Given the description of an element on the screen output the (x, y) to click on. 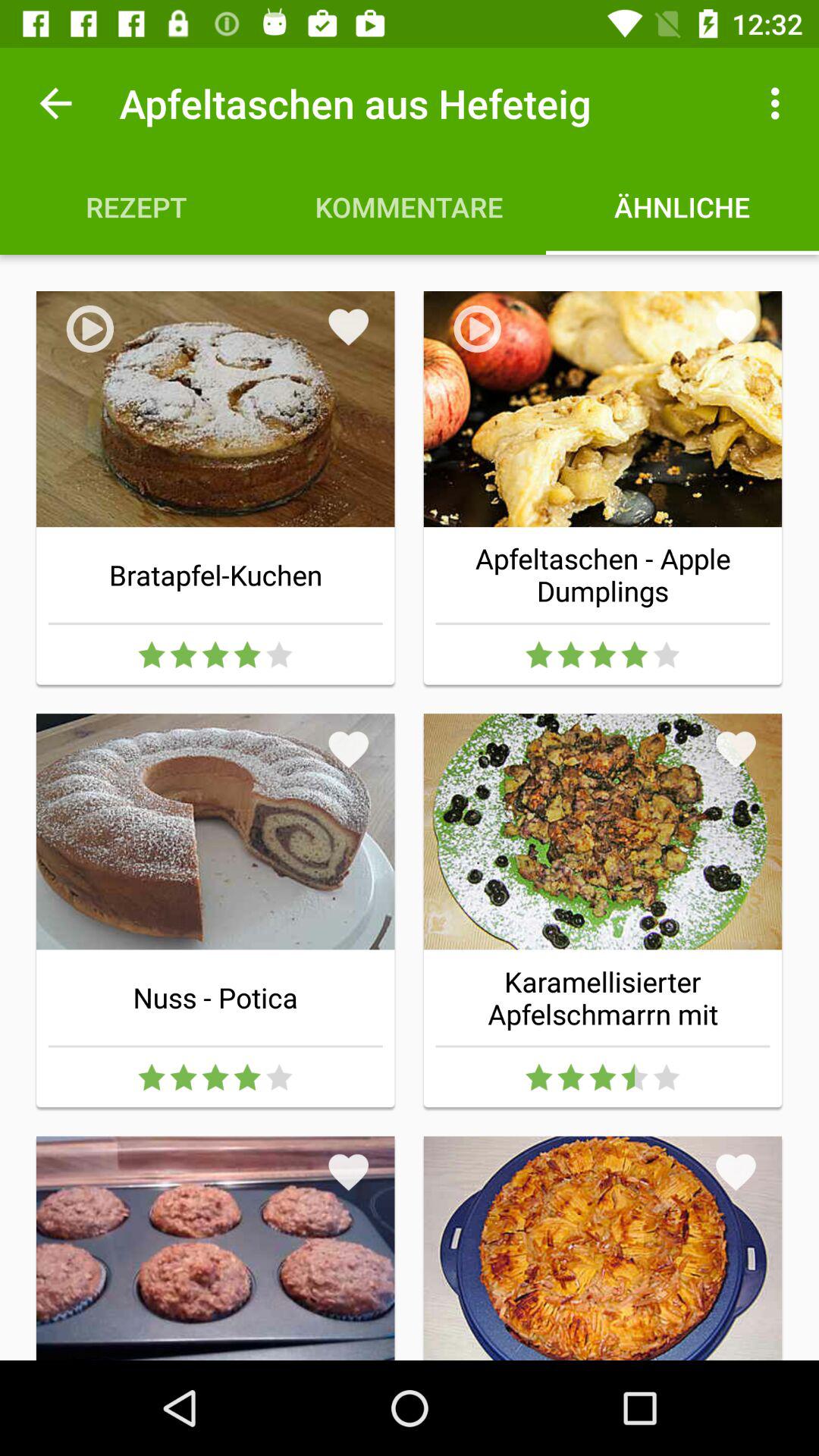
click the icon at the center (348, 749)
